Given the description of an element on the screen output the (x, y) to click on. 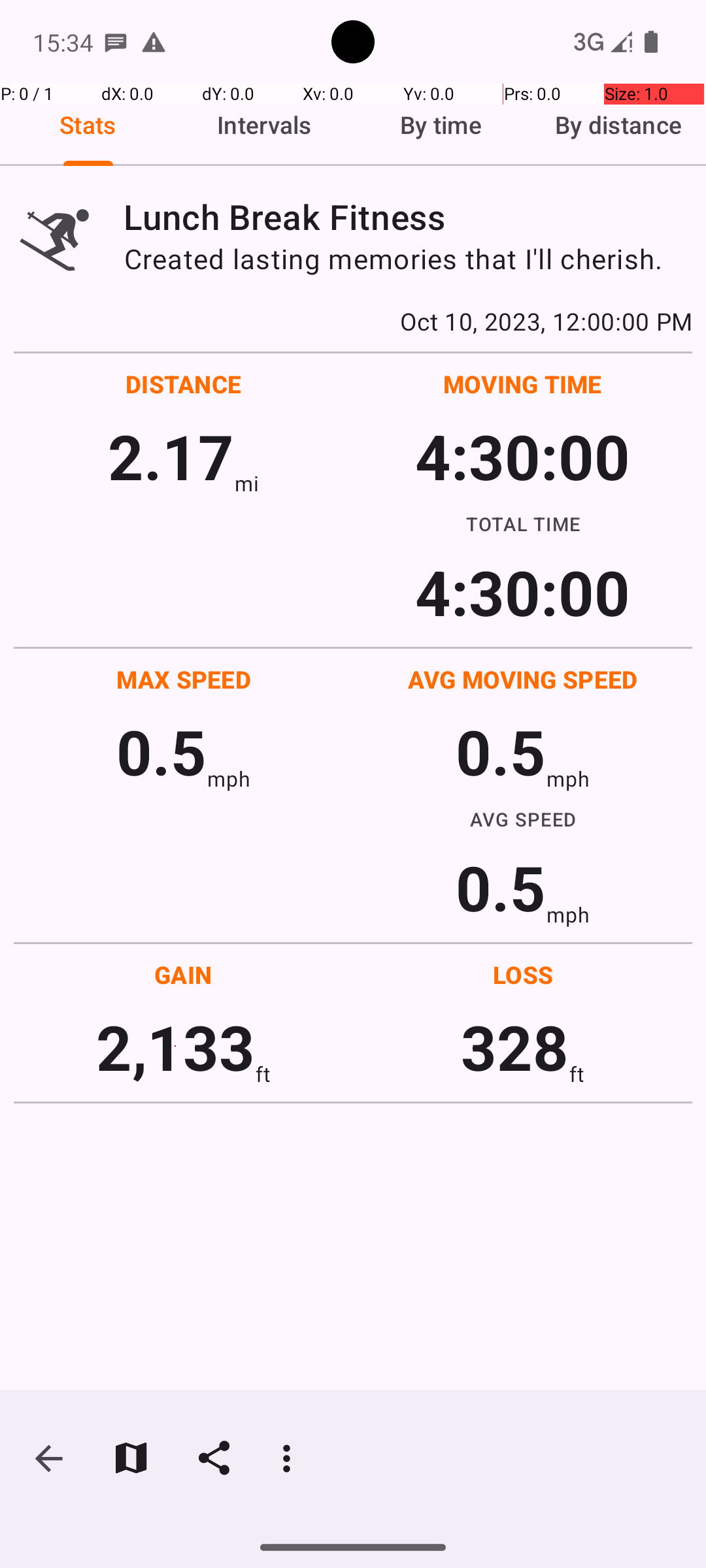
Lunch Break Fitness Element type: android.widget.TextView (407, 216)
Created lasting memories that I'll cherish. Element type: android.widget.TextView (407, 258)
Oct 10, 2023, 12:00:00 PM Element type: android.widget.TextView (352, 320)
2.17 Element type: android.widget.TextView (170, 455)
4:30:00 Element type: android.widget.TextView (522, 455)
0.5 Element type: android.widget.TextView (161, 750)
2,133 Element type: android.widget.TextView (175, 1045)
328 Element type: android.widget.TextView (514, 1045)
